Given the description of an element on the screen output the (x, y) to click on. 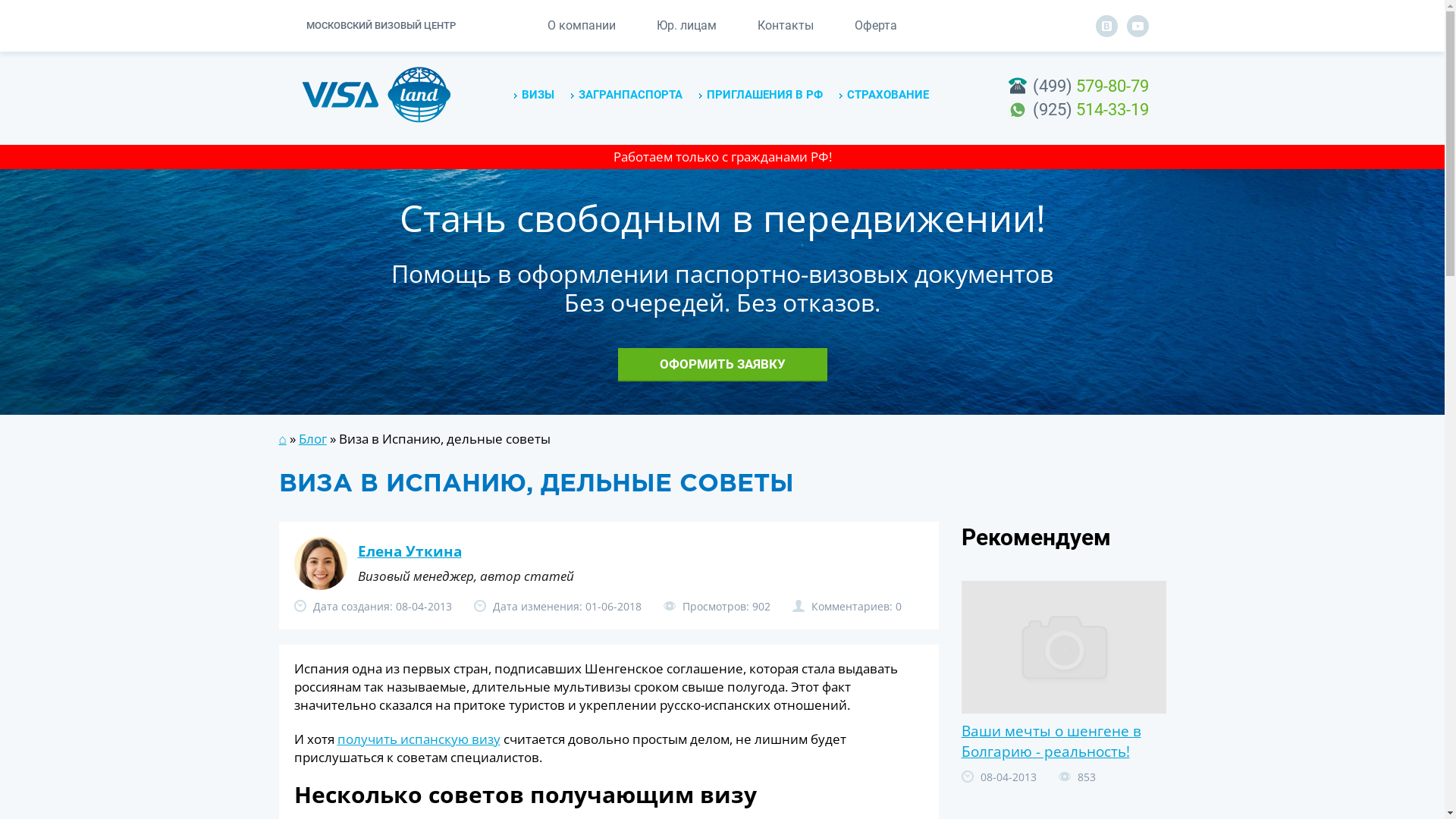
(925) 514-33-19 Element type: text (1090, 109)
(499) 579-80-79 Element type: text (1090, 85)
